Given the description of an element on the screen output the (x, y) to click on. 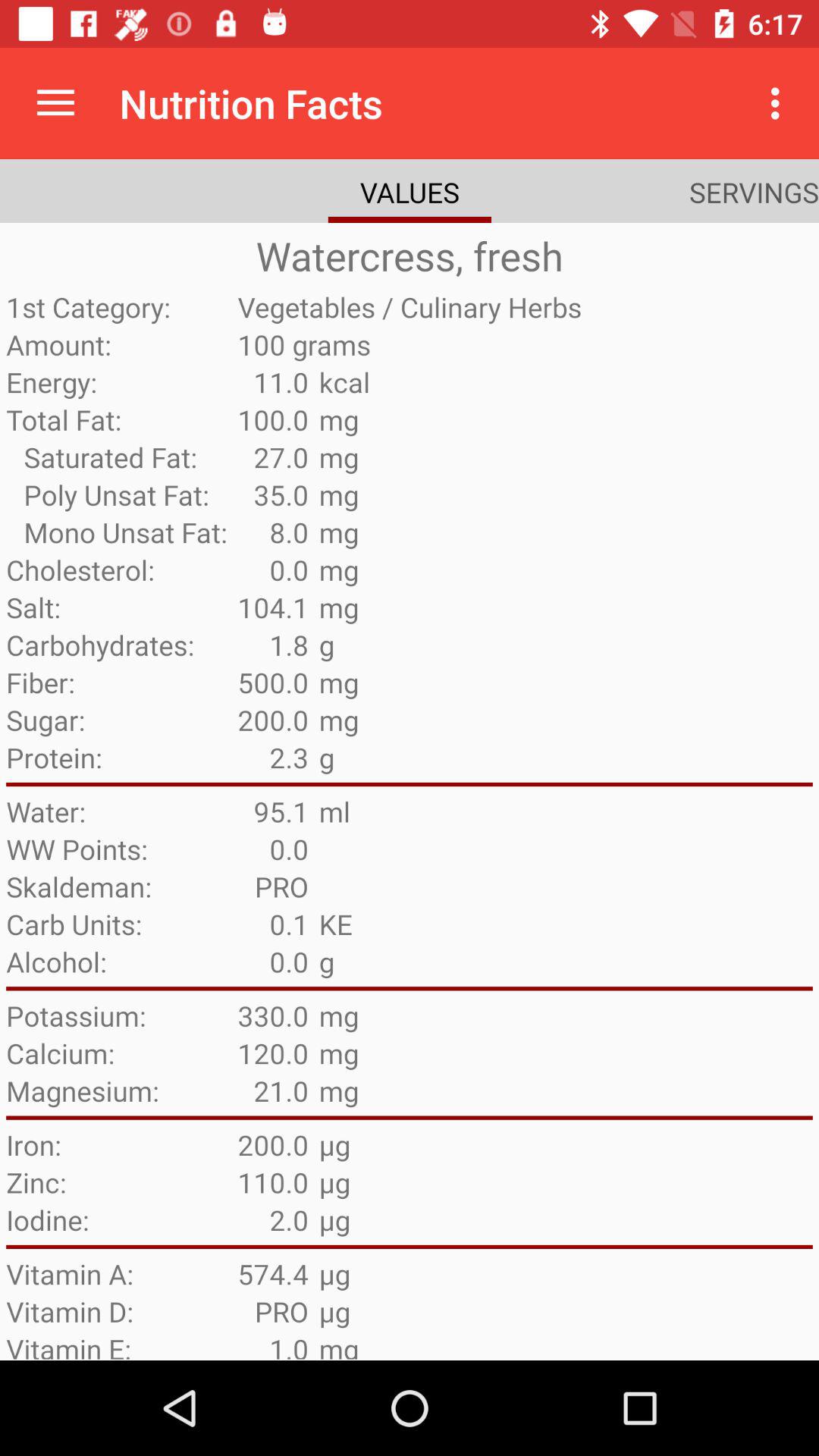
press the app to the right of the nutrition facts app (779, 103)
